Given the description of an element on the screen output the (x, y) to click on. 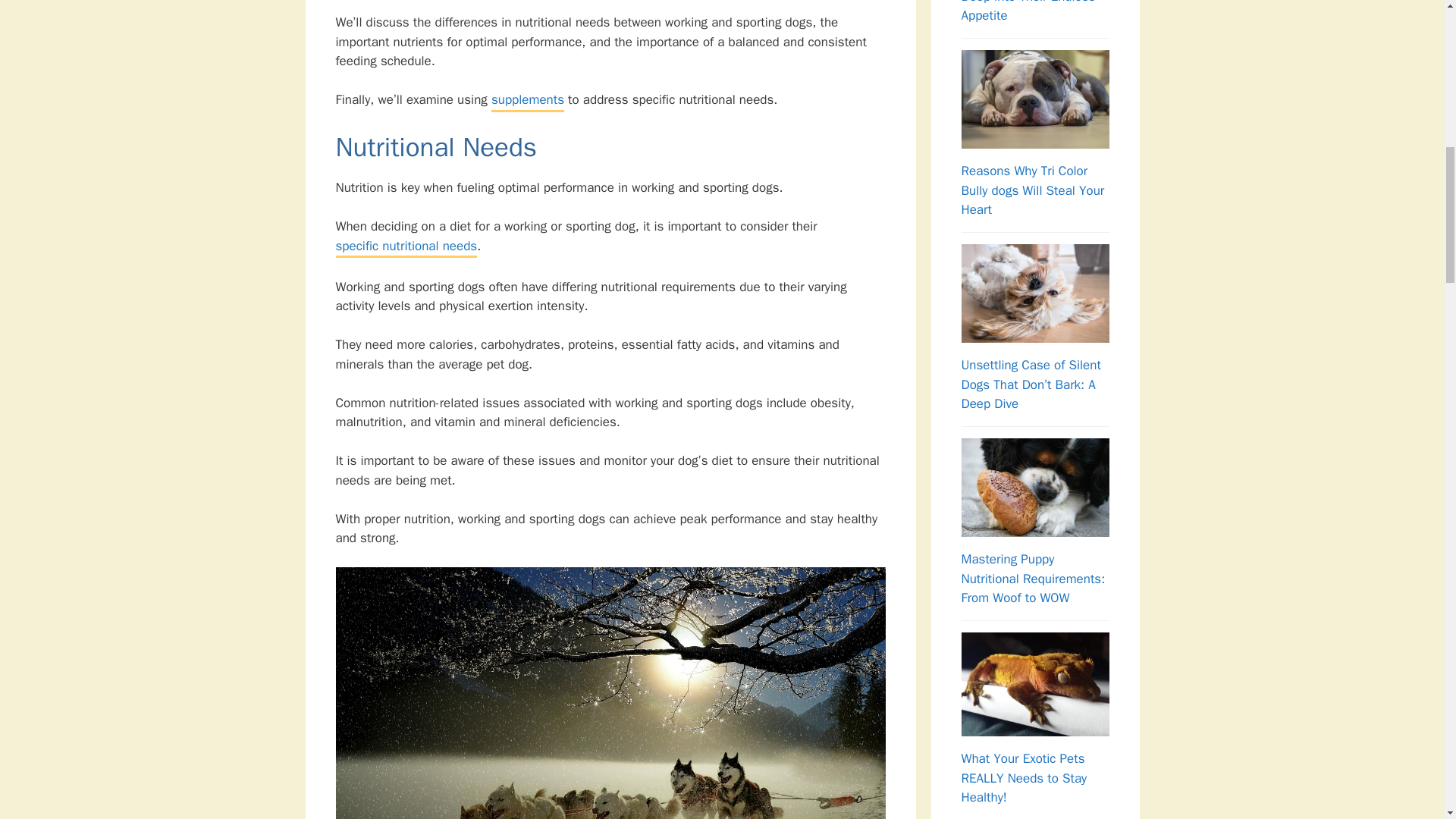
Dog Hunger 101: Dive Deep into Their Endless Appetite (1028, 11)
Mastering Puppy Nutritional Requirements: From Woof to WOW (1032, 578)
supplements (528, 101)
Reasons Why Tri Color Bully dogs Will Steal Your Heart (1032, 189)
What Your Exotic Pets REALLY Needs to Stay Healthy! (1023, 778)
specific nutritional needs (405, 247)
